Given the description of an element on the screen output the (x, y) to click on. 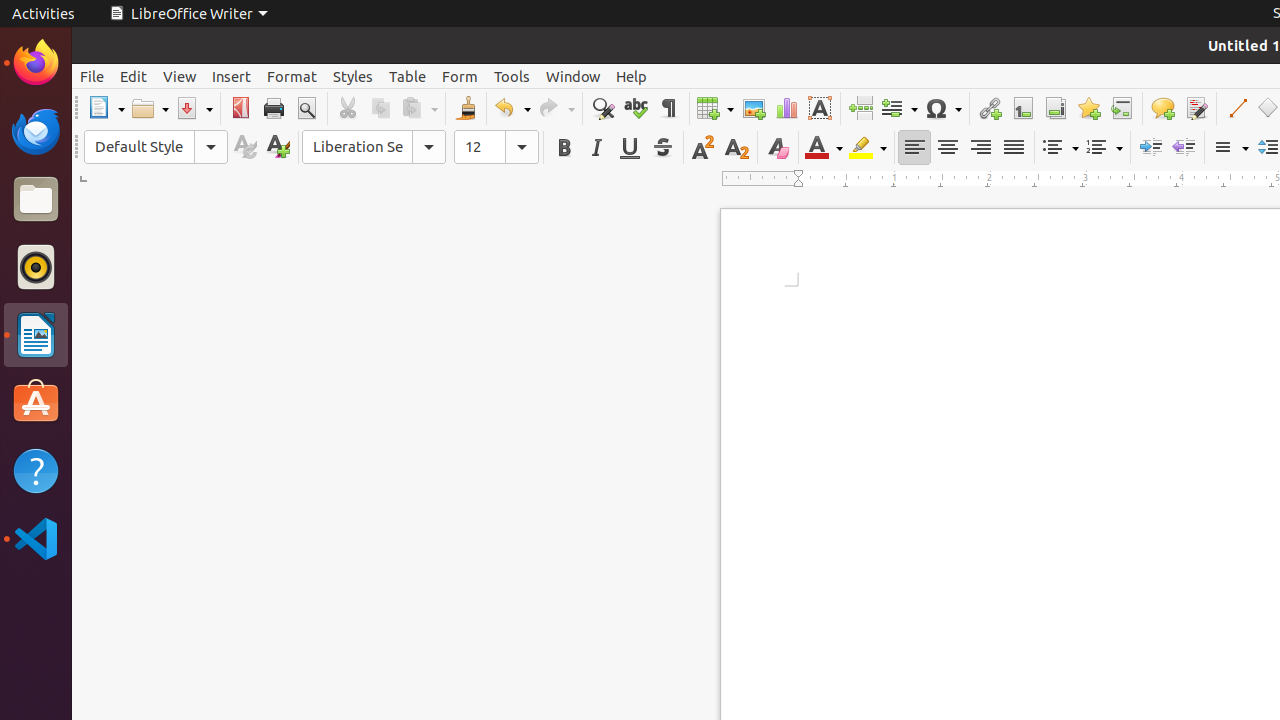
Cut Element type: push-button (347, 108)
LibreOffice Writer Element type: menu (188, 13)
Paragraph Style Element type: combo-box (156, 147)
Print Element type: push-button (273, 108)
Underline Element type: push-button (629, 147)
